Given the description of an element on the screen output the (x, y) to click on. 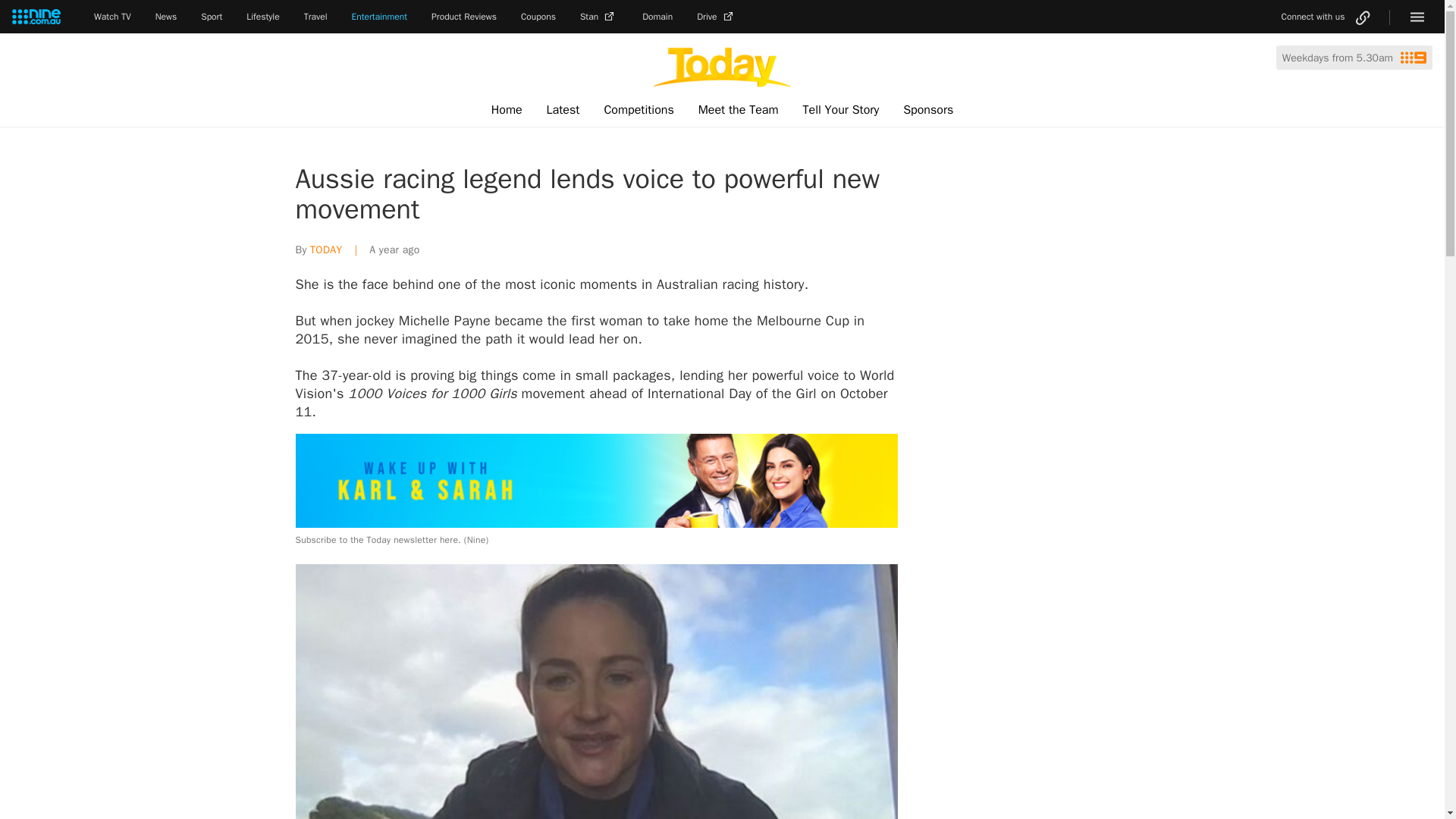
Sponsors (928, 109)
Product Reviews (463, 16)
Stan (598, 16)
Tell Your Story (840, 109)
Latest (563, 109)
Drive (716, 16)
Watch TV (112, 16)
Lifestyle (262, 16)
Domain (657, 16)
Entertainment (379, 16)
